Given the description of an element on the screen output the (x, y) to click on. 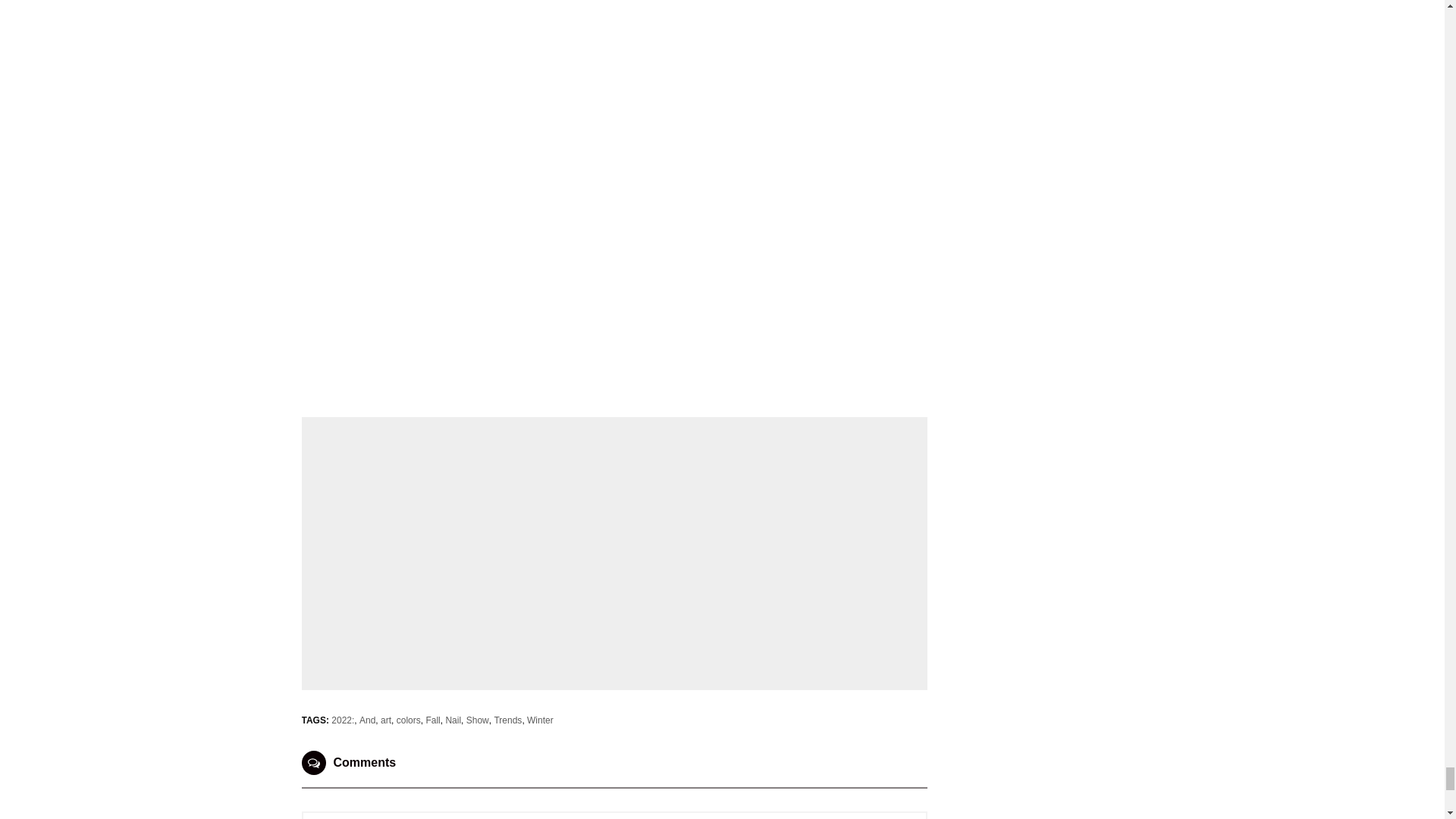
And (367, 719)
Nail (453, 719)
Fall (432, 719)
art (385, 719)
colors (408, 719)
Show (477, 719)
Winter (540, 719)
Trends (507, 719)
2022: (342, 719)
